Given the description of an element on the screen output the (x, y) to click on. 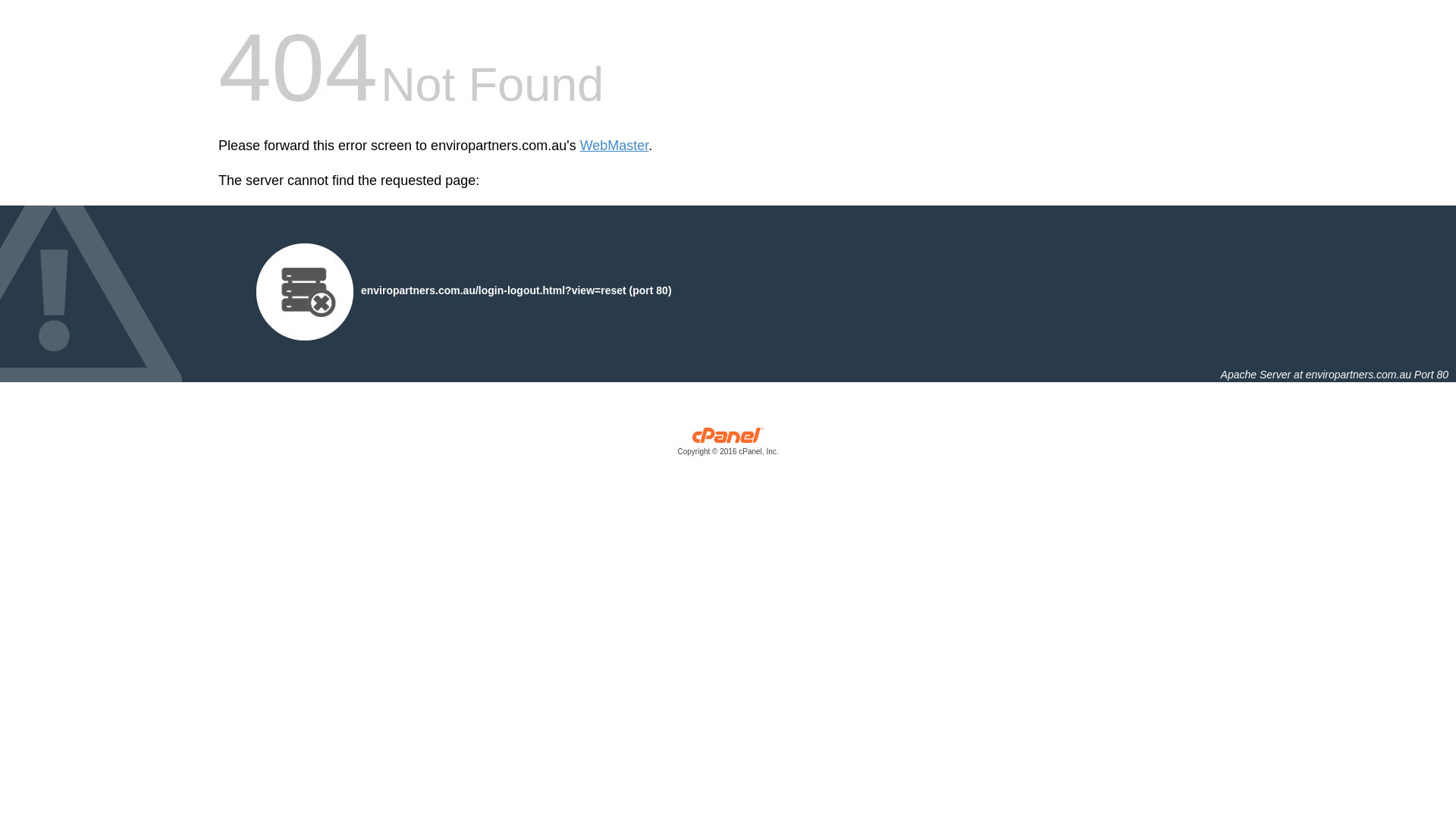
WebMaster Element type: text (614, 145)
